Given the description of an element on the screen output the (x, y) to click on. 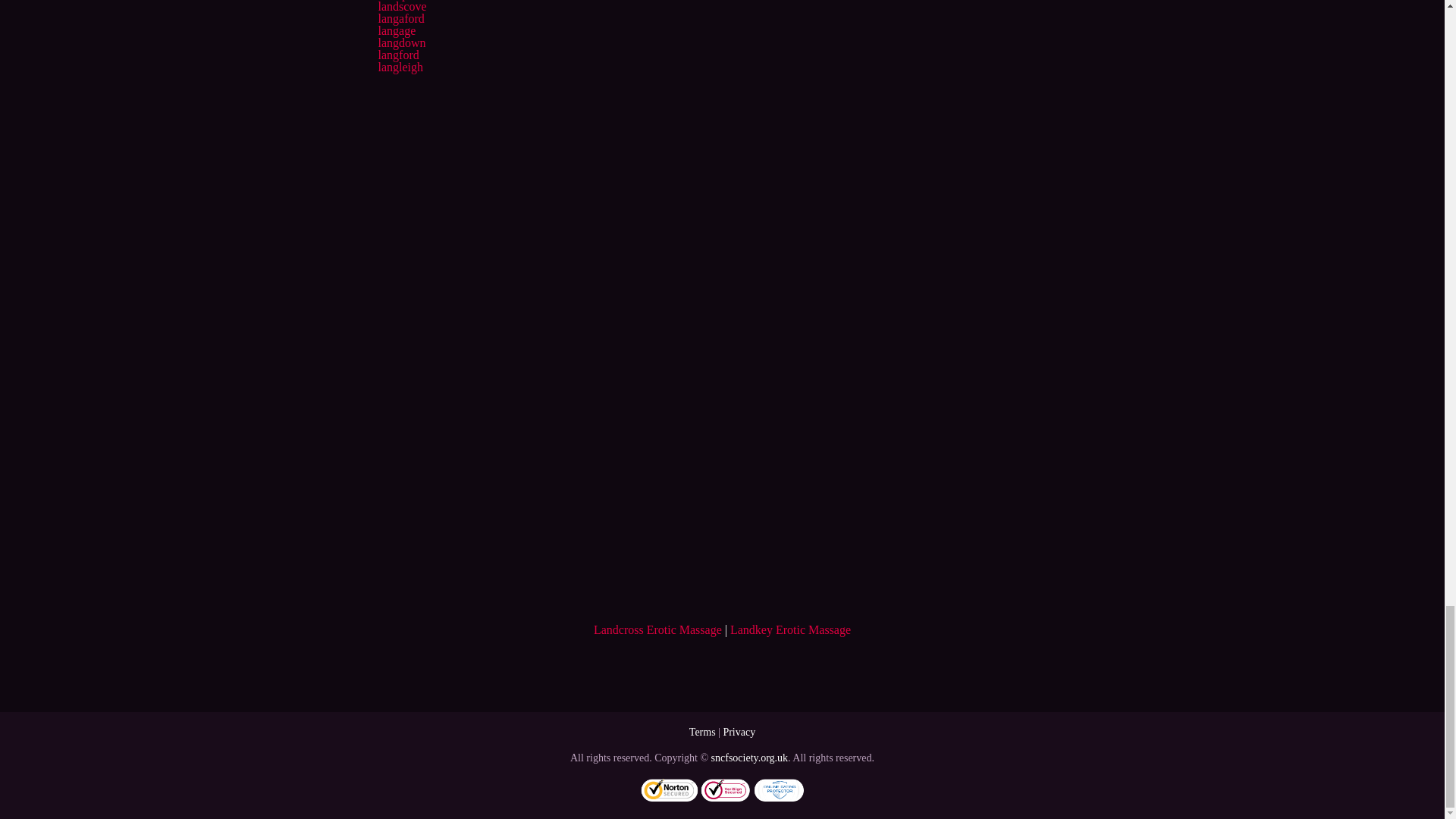
sncfsociety.org.uk (749, 757)
Landkey Erotic Massage (790, 629)
langage (395, 30)
langaford (400, 18)
Privacy (738, 731)
langleigh (400, 66)
Terms (702, 731)
Privacy (738, 731)
land part (398, 0)
Landcross Erotic Massage (658, 629)
landscove (401, 6)
langdown (401, 42)
langford (398, 54)
Terms (702, 731)
